Given the description of an element on the screen output the (x, y) to click on. 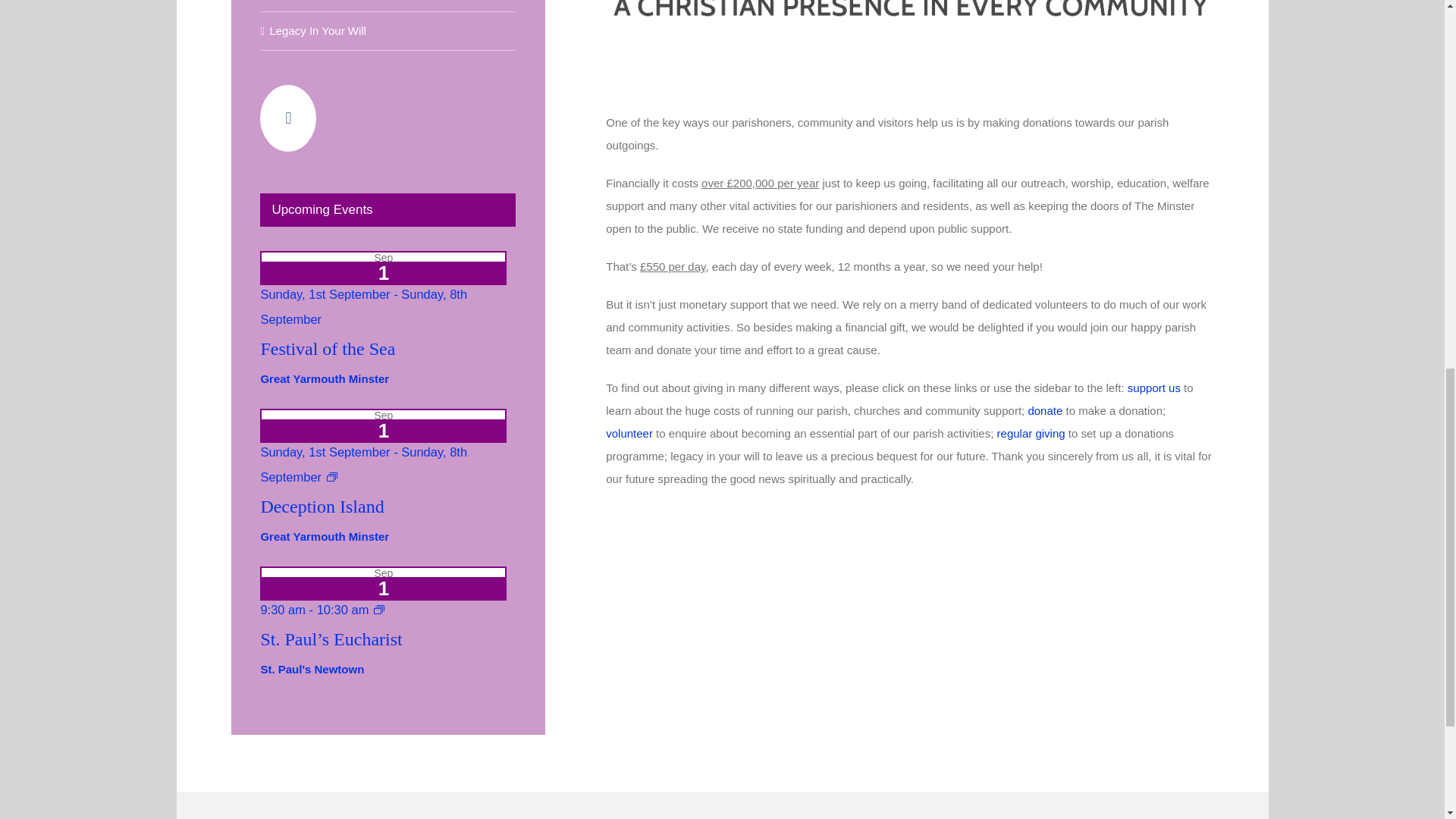
Event Series (331, 476)
Festival of the Sea (327, 348)
Deception Island (322, 506)
Event Series (379, 609)
